Given the description of an element on the screen output the (x, y) to click on. 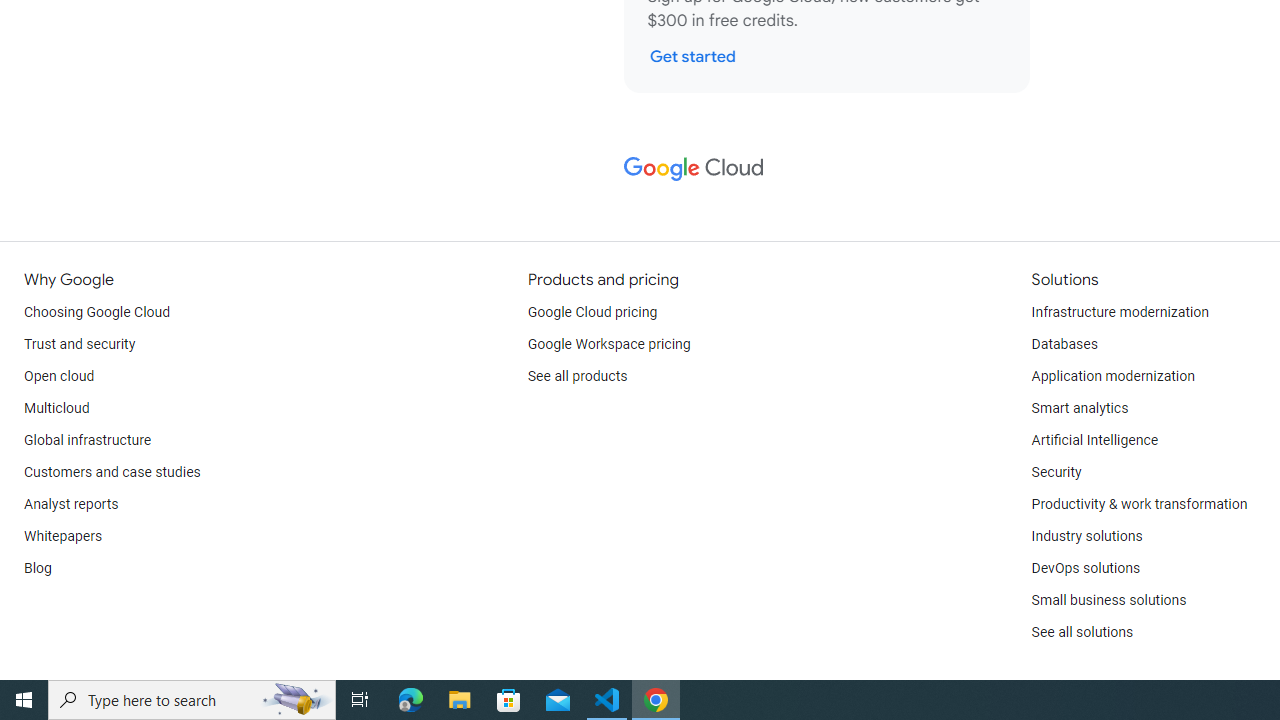
Open cloud (59, 376)
Infrastructure modernization (1119, 312)
See all solutions (1082, 632)
Industry solutions (1086, 536)
Security (1055, 472)
Analyst reports (71, 504)
Whitepapers (63, 536)
Global infrastructure (88, 440)
DevOps solutions (1085, 568)
Get started (692, 56)
